Given the description of an element on the screen output the (x, y) to click on. 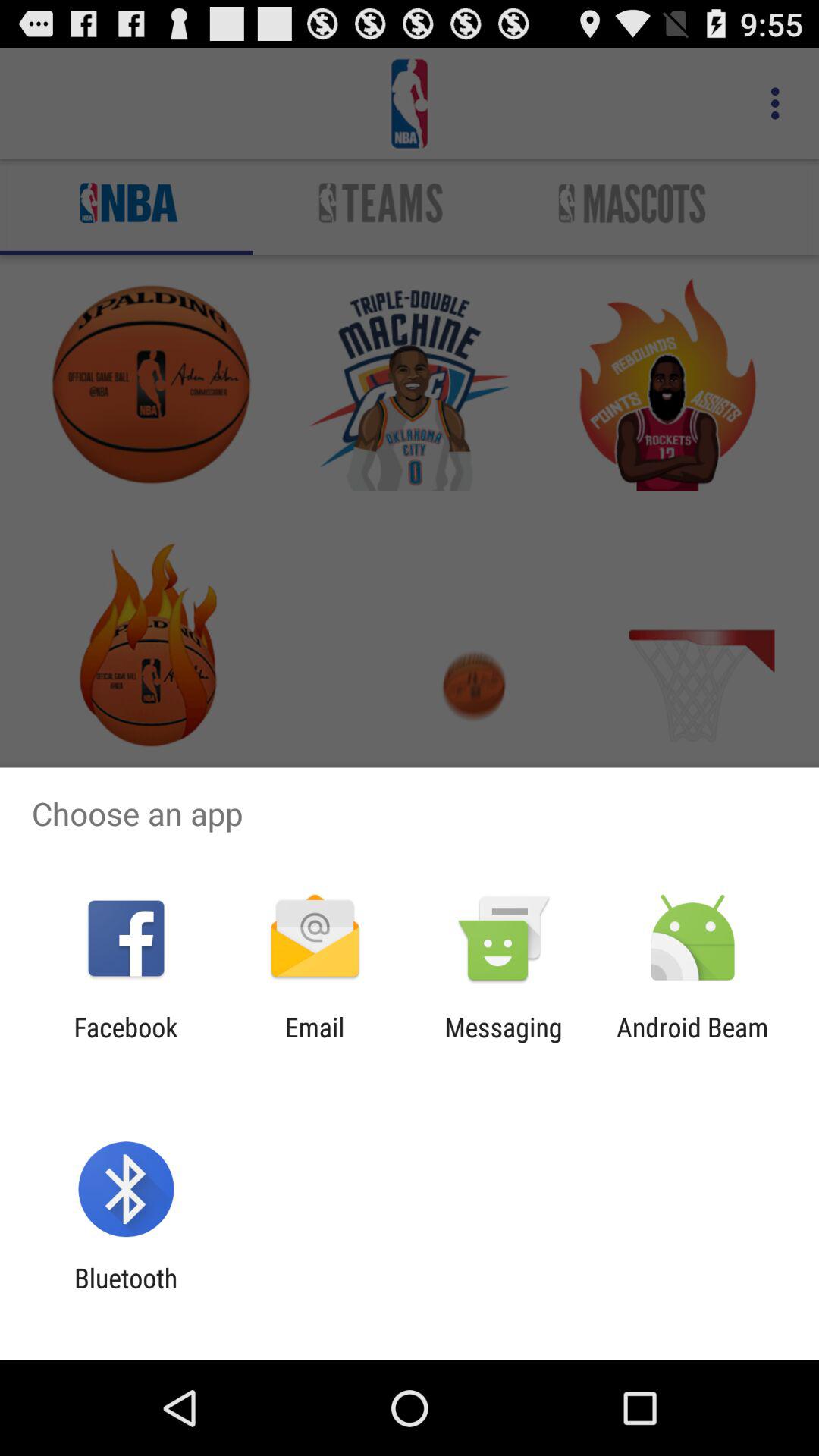
open the item to the left of messaging icon (314, 1042)
